Given the description of an element on the screen output the (x, y) to click on. 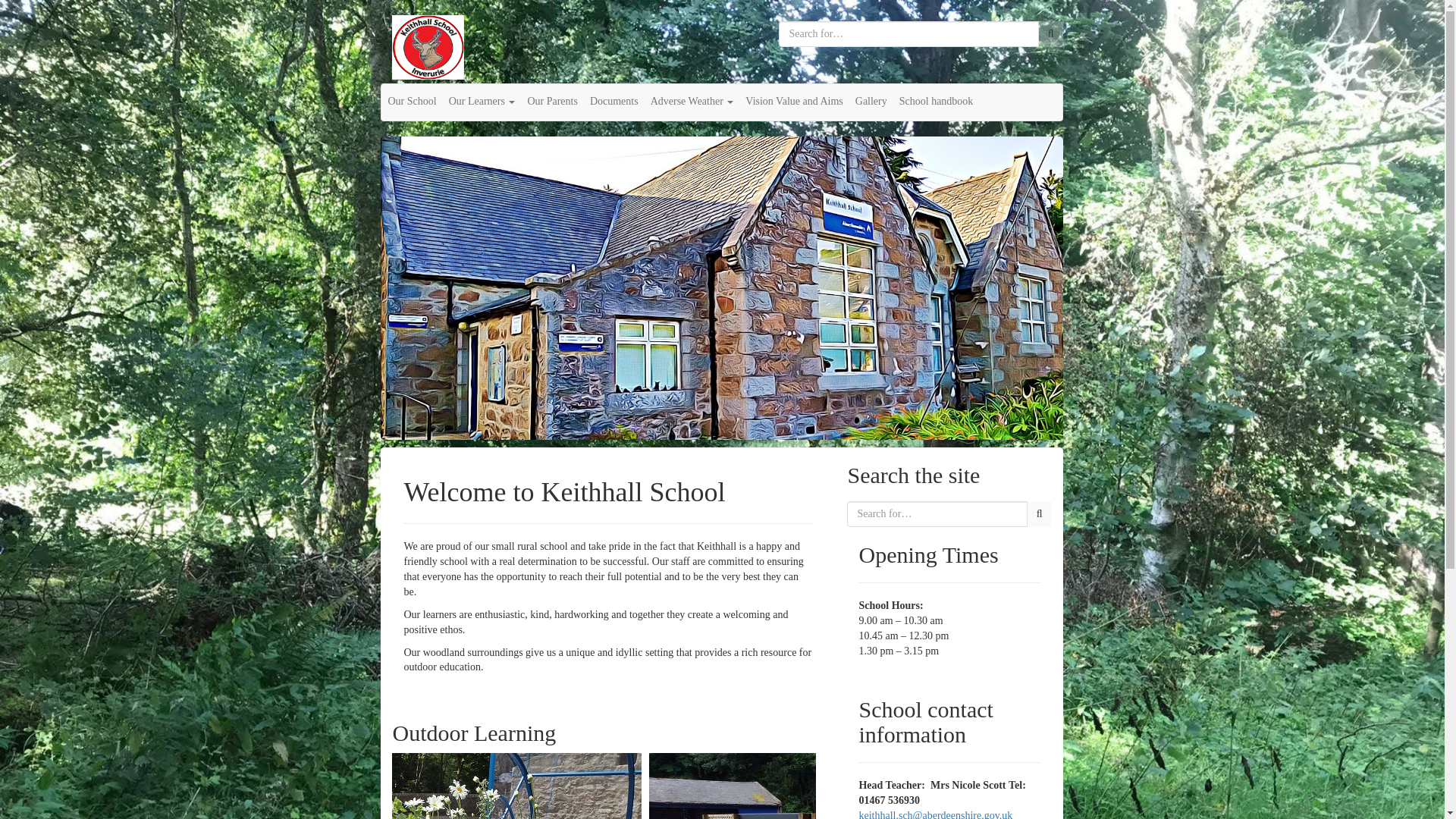
Our Parents (552, 101)
School handbook (936, 101)
Documents (614, 101)
Adverse Weather (692, 101)
Our School (411, 101)
Adverse Weather (692, 101)
Documents (614, 101)
Vision Value and Aims (793, 101)
Our Learners (481, 101)
School handbook (936, 101)
Vision Value and Aims (793, 101)
Gallery (870, 101)
Gallery (870, 101)
Our Parents (552, 101)
Our School (411, 101)
